Given the description of an element on the screen output the (x, y) to click on. 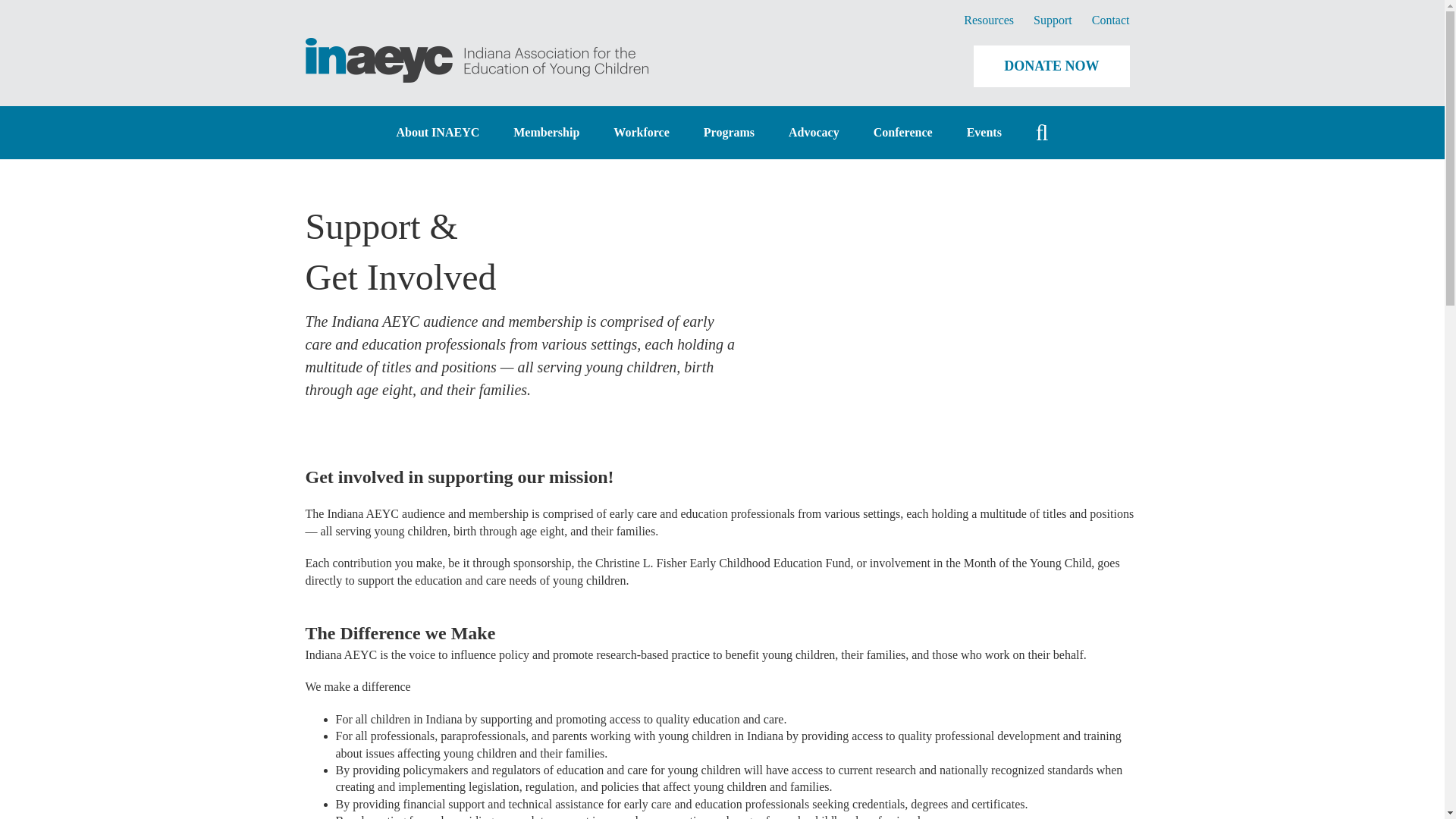
About INAEYC (437, 132)
Programs (728, 132)
Support (1052, 20)
Resources (988, 20)
Workforce (640, 132)
Advocacy (814, 132)
Contact (1110, 20)
DONATE NOW (1050, 65)
Membership (546, 132)
